Given the description of an element on the screen output the (x, y) to click on. 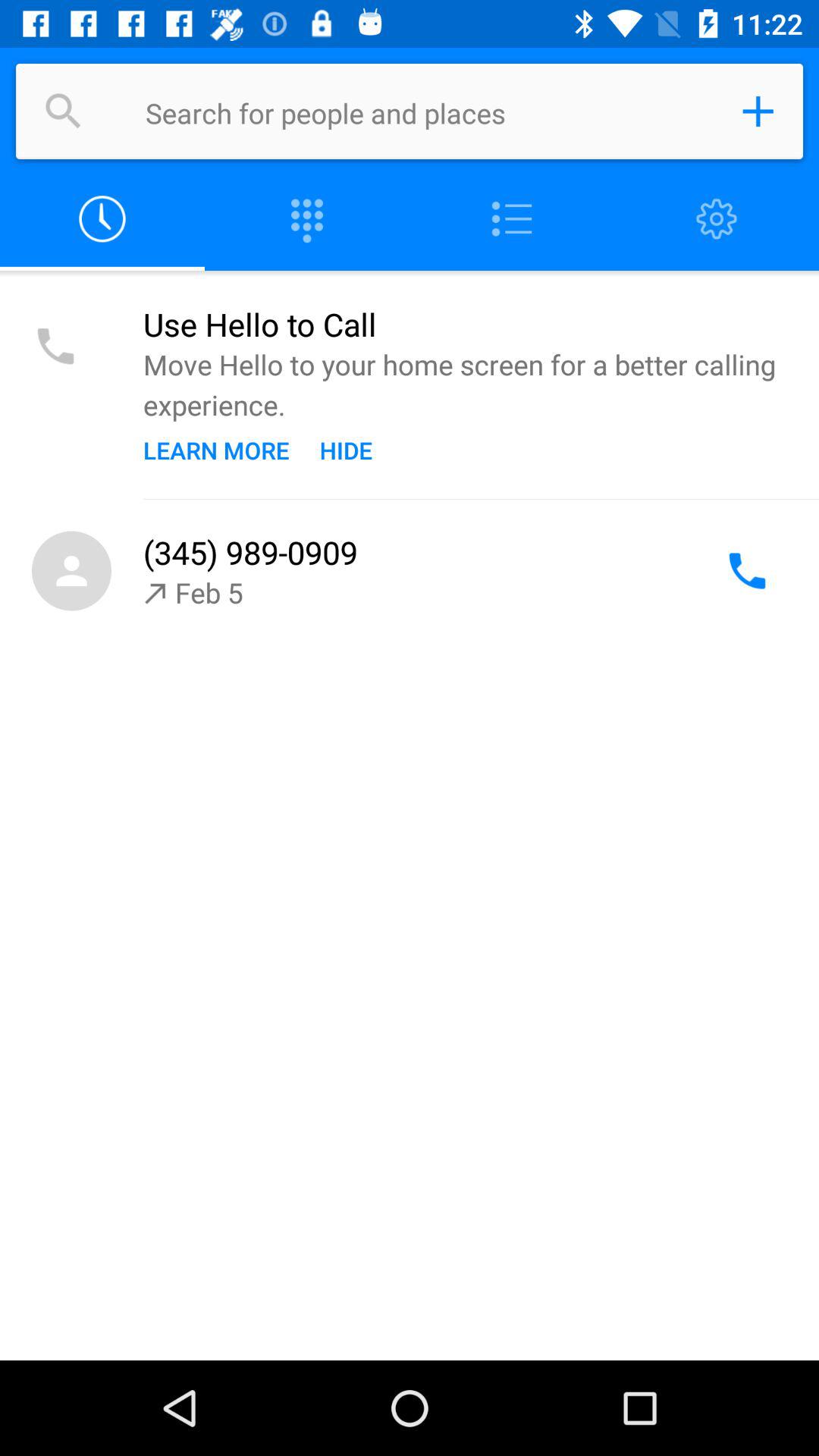
recent calls (102, 219)
